Given the description of an element on the screen output the (x, y) to click on. 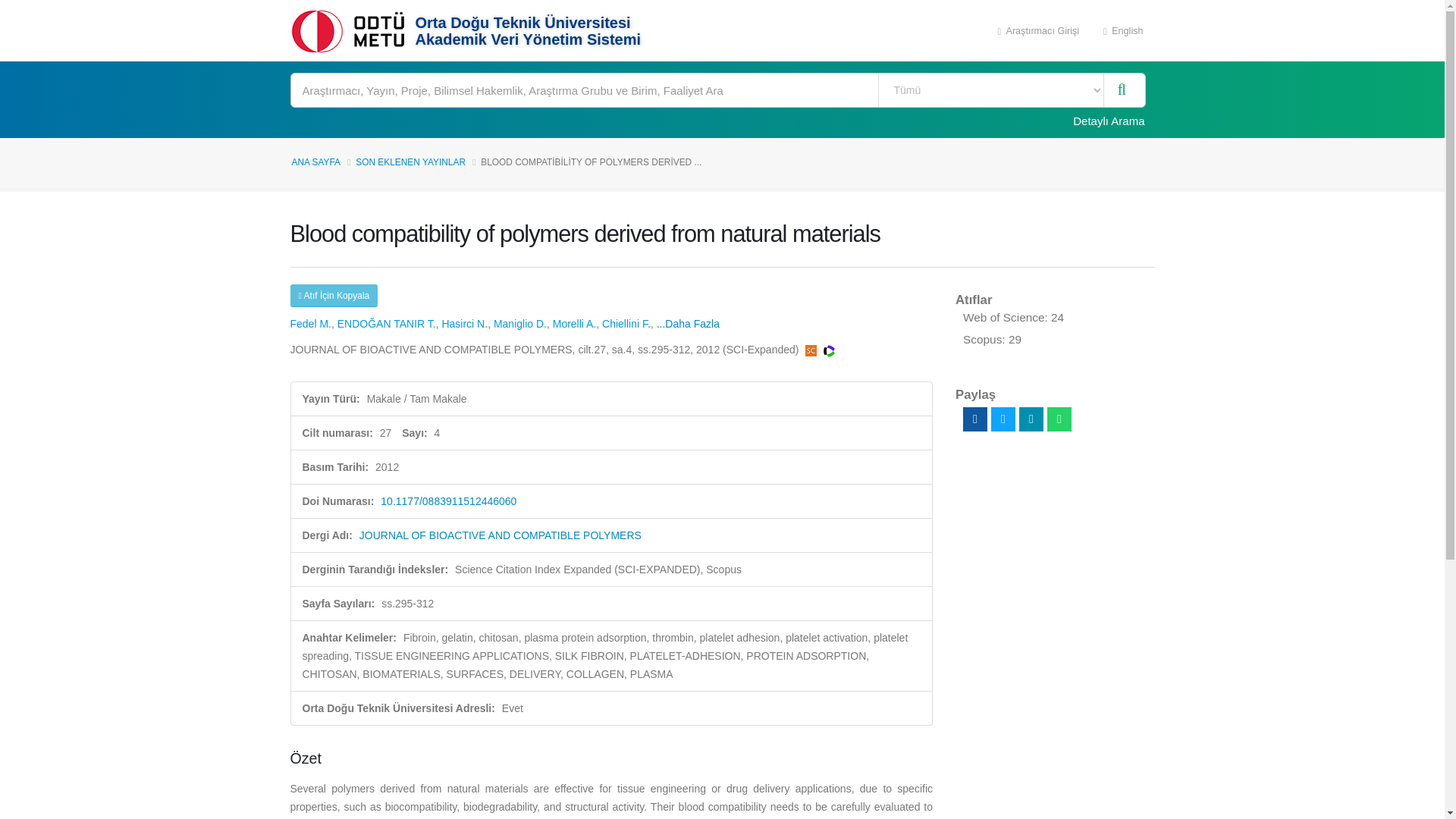
Federica Chiellini (626, 323)
...Daha Fazla (687, 323)
English (1123, 31)
JOURNAL OF BIOACTIVE AND COMPATIBLE POLYMERS (500, 535)
Mariangela Fedel (309, 323)
Andrea Morelli (574, 323)
Maniglio D. (520, 323)
ANA SAYFA (315, 162)
Fedel M. (309, 323)
Devid Maniglio (520, 323)
